Given the description of an element on the screen output the (x, y) to click on. 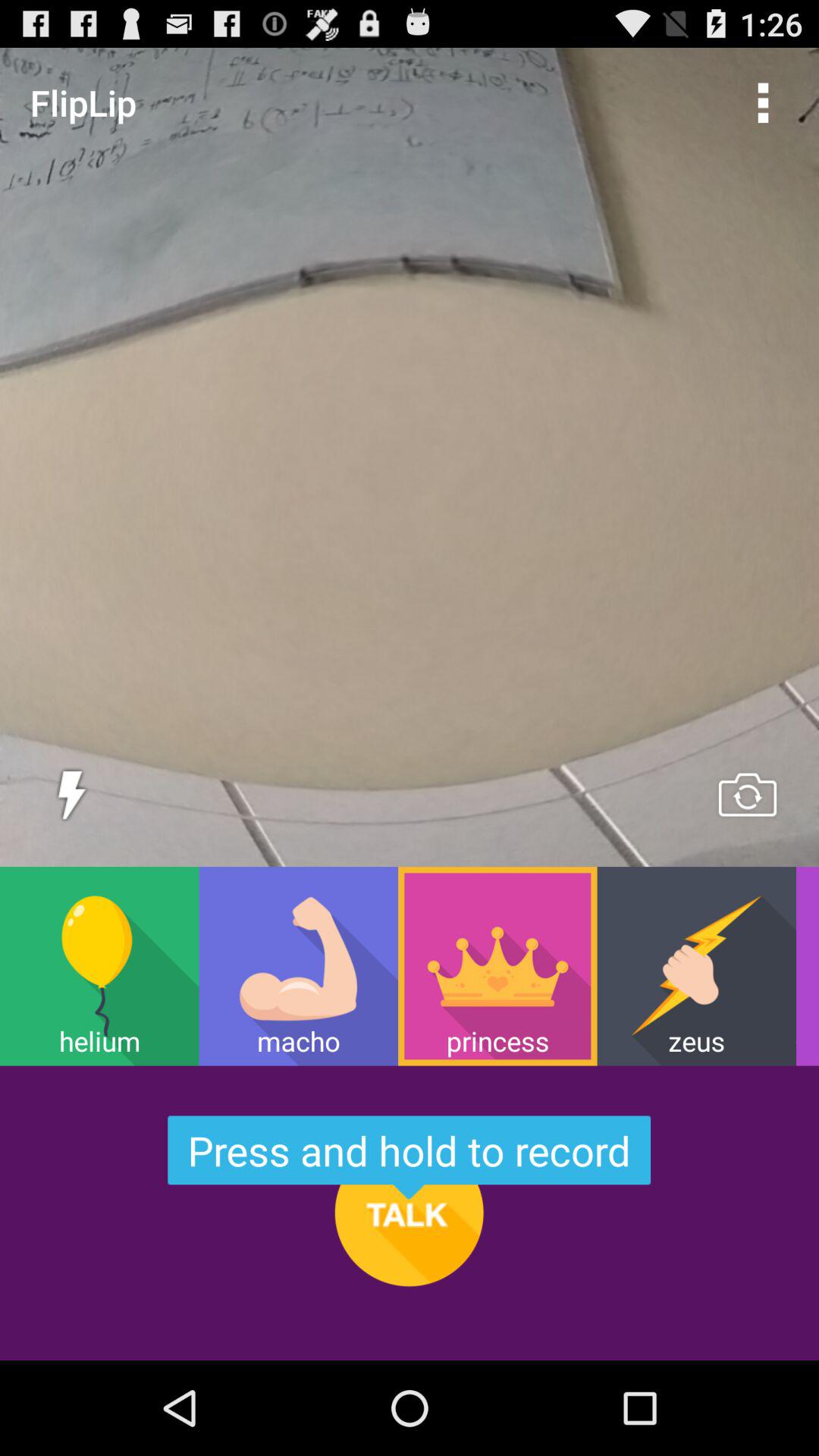
turn off the icon to the right of the princess (696, 965)
